Given the description of an element on the screen output the (x, y) to click on. 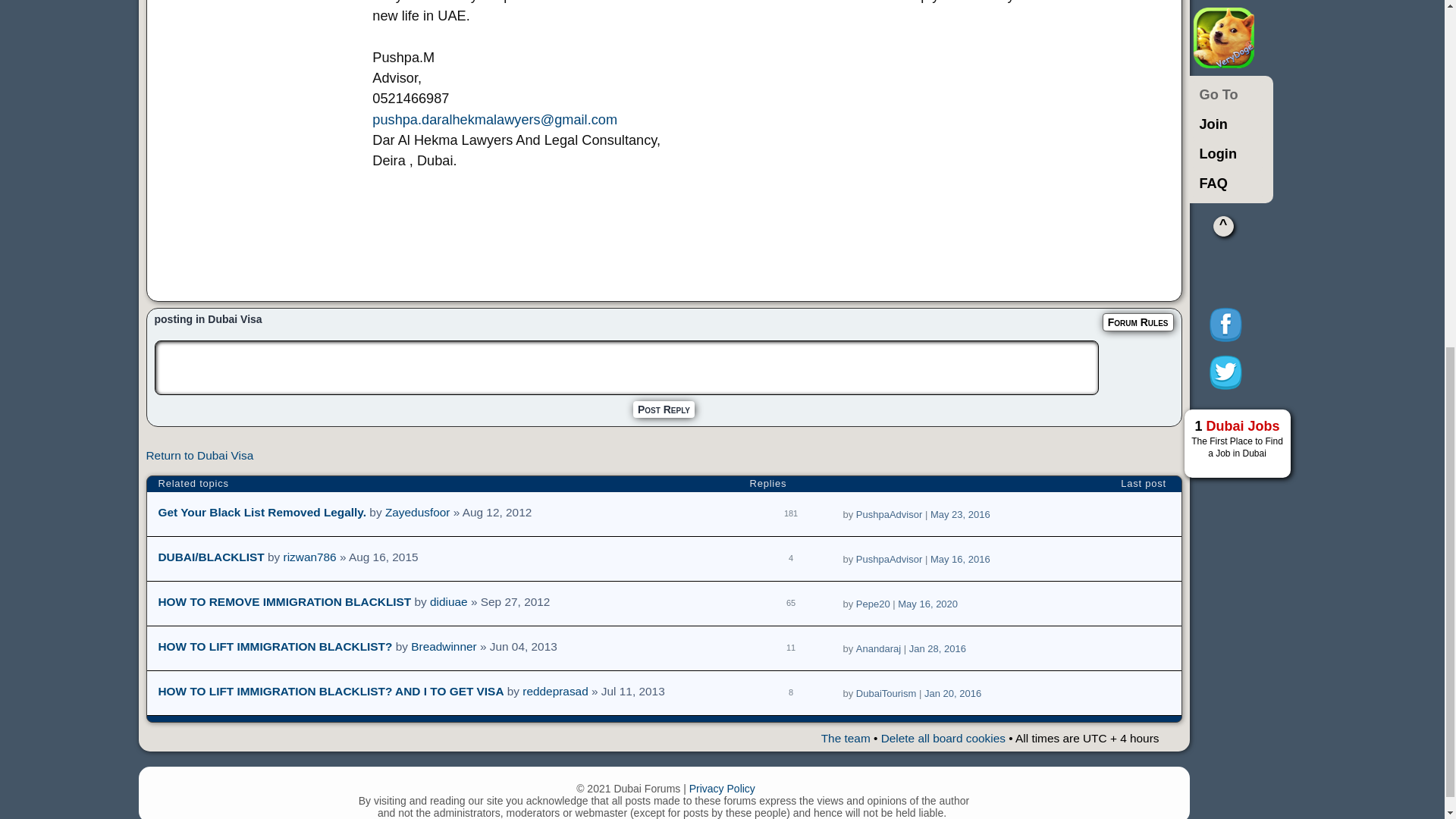
Anandaraj (878, 648)
reddeprasad (555, 690)
Get Your Black List Removed Legally. (261, 512)
Delete all board cookies (943, 738)
PushpaAdvisor (888, 514)
Jan 28, 2016 (937, 648)
Zayedusfoor (417, 512)
HOW TO LIFT IMMIGRATION BLACKLIST? AND I TO GET VISA (330, 690)
HOW TO LIFT IMMIGRATION BLACKLIST? (274, 645)
